Given the description of an element on the screen output the (x, y) to click on. 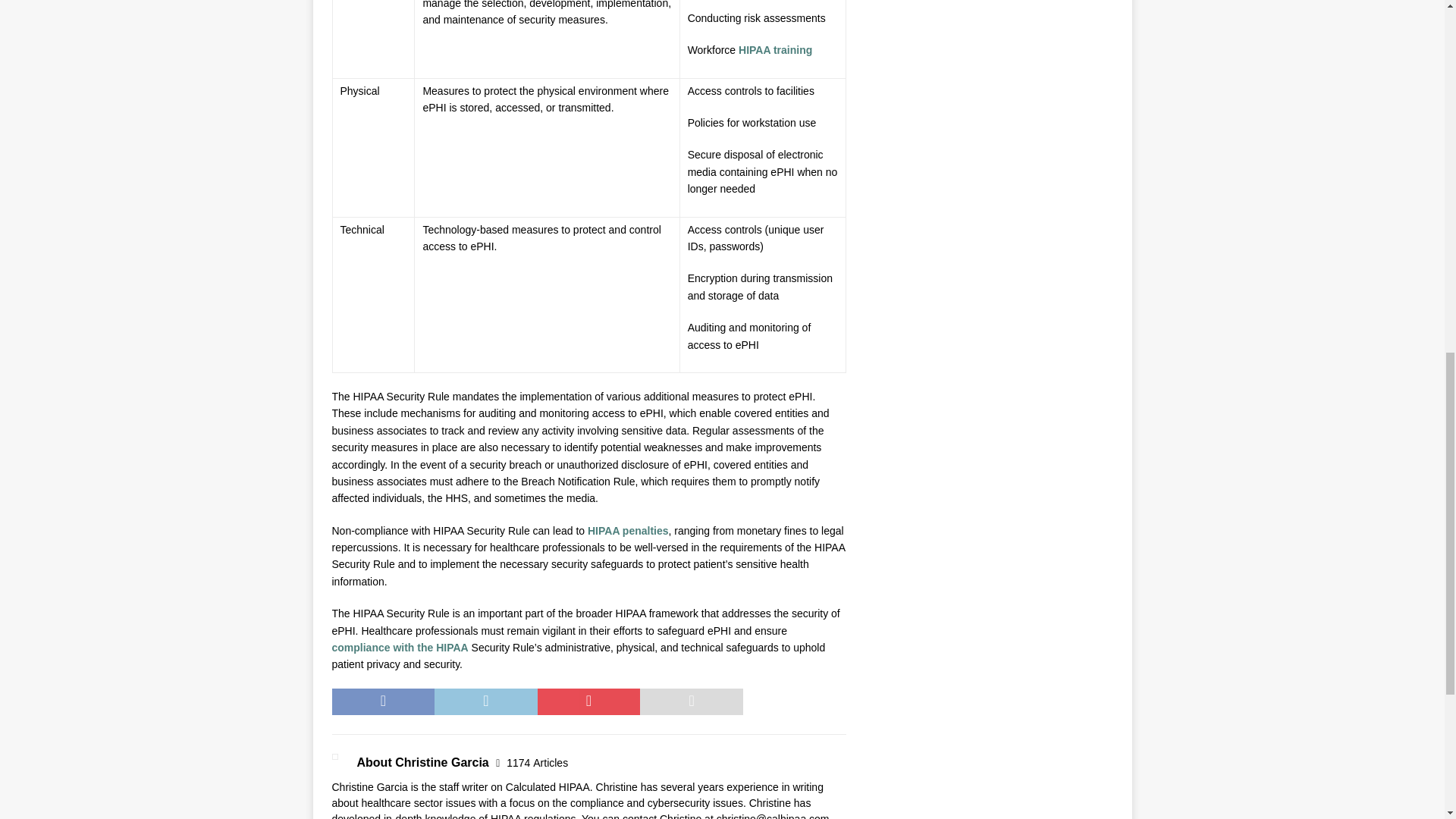
HIPAA penalties (628, 530)
More articles written by Christine Garcia' (536, 762)
HIPAA training (775, 50)
compliance with the HIPAA (399, 647)
1174 Articles (536, 762)
